Given the description of an element on the screen output the (x, y) to click on. 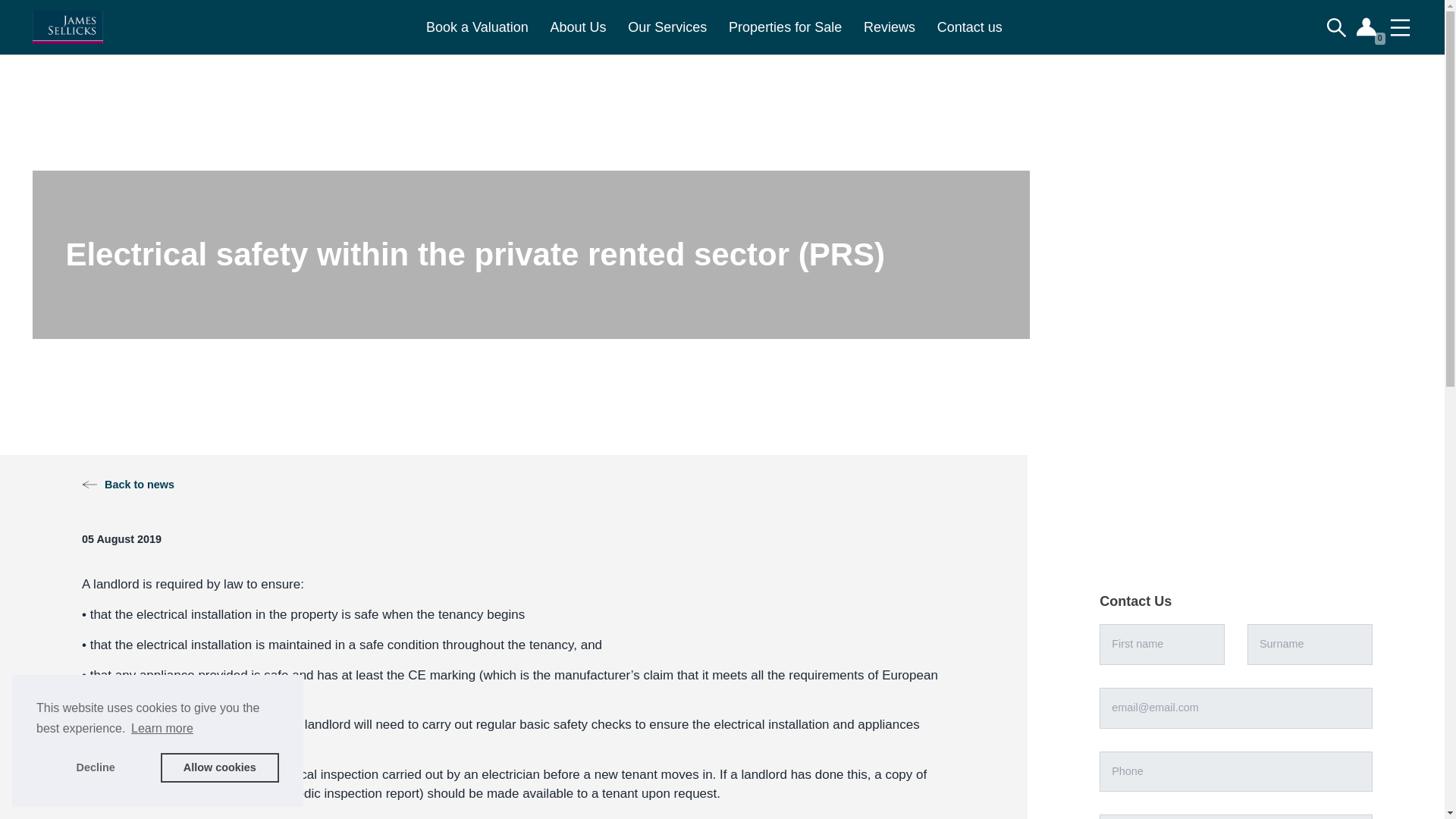
Properties for Sale (785, 26)
Reviews (889, 26)
About Us (577, 26)
Decline (95, 767)
Allow cookies (219, 767)
0 (1368, 26)
Back to news (127, 484)
Book a Valuation (477, 26)
Learn more (162, 728)
